Given the description of an element on the screen output the (x, y) to click on. 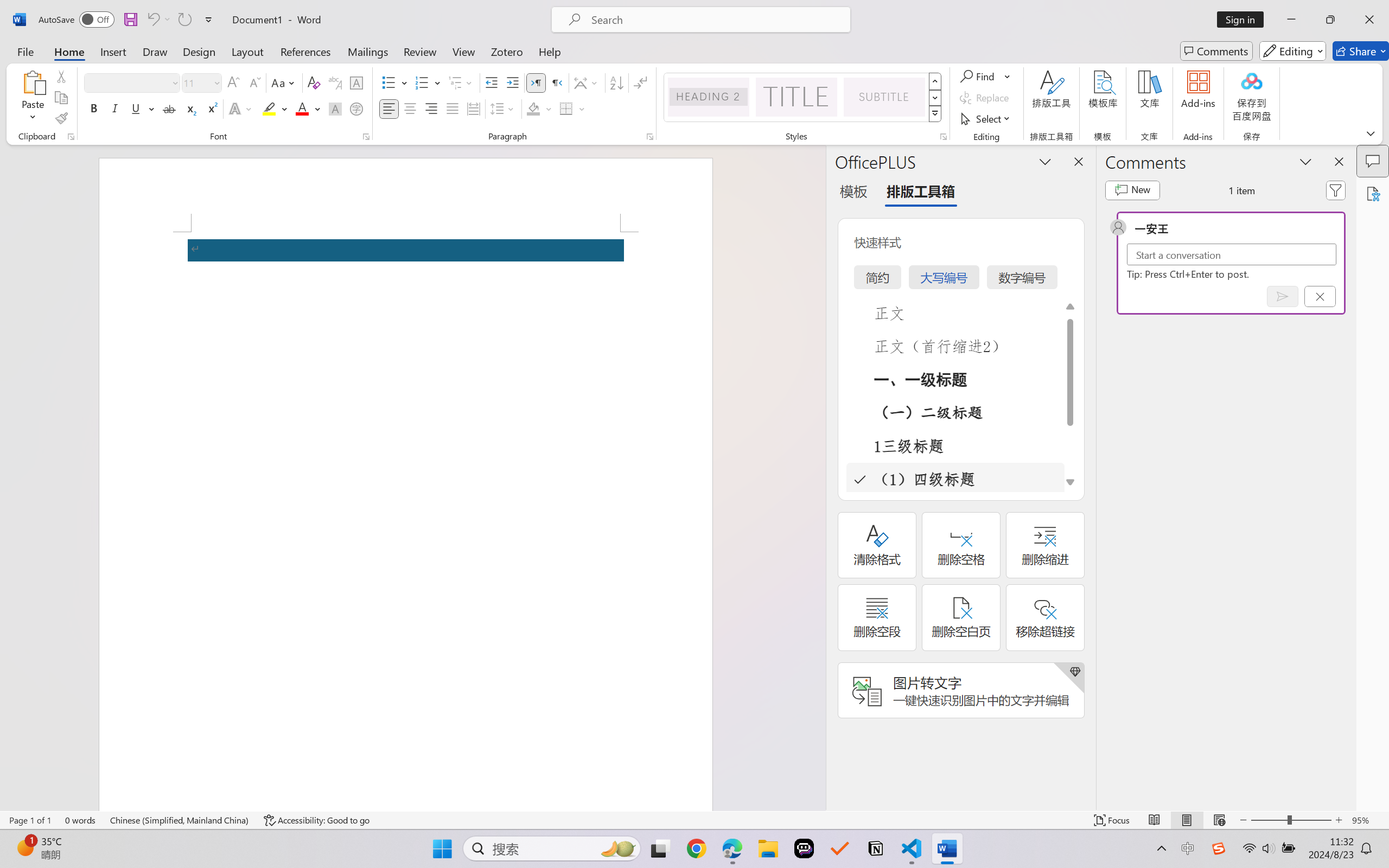
Cancel (1320, 296)
